Given the description of an element on the screen output the (x, y) to click on. 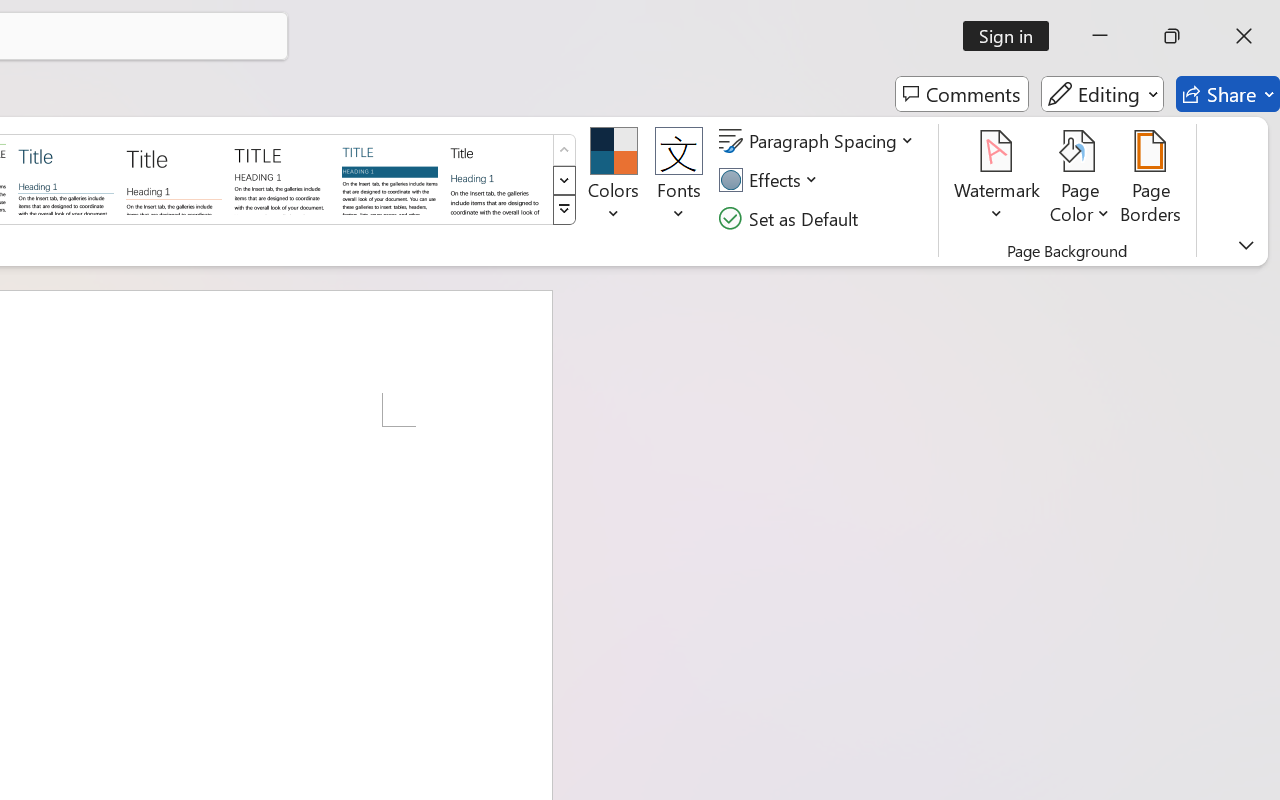
Fonts (678, 179)
Set as Default (791, 218)
Shaded (389, 178)
Lines (Stylish) (173, 178)
Paragraph Spacing (819, 141)
Page Borders... (1151, 179)
Editing (1101, 94)
Colors (613, 179)
Watermark (997, 179)
